Given the description of an element on the screen output the (x, y) to click on. 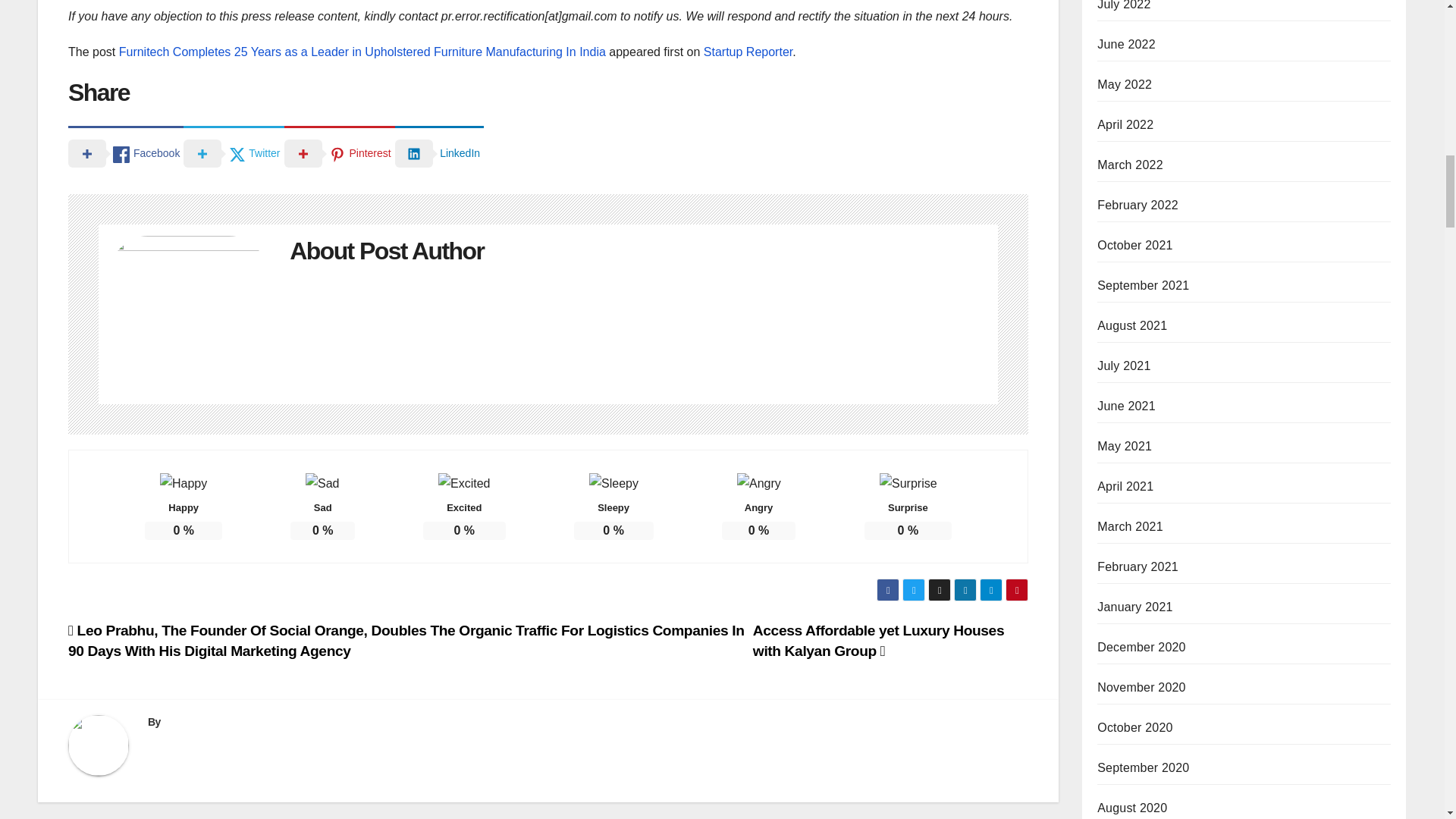
LinkedIn (438, 152)
Twitter (233, 152)
Startup Reporter (747, 51)
Pinterest (338, 152)
Facebook (125, 152)
